Given the description of an element on the screen output the (x, y) to click on. 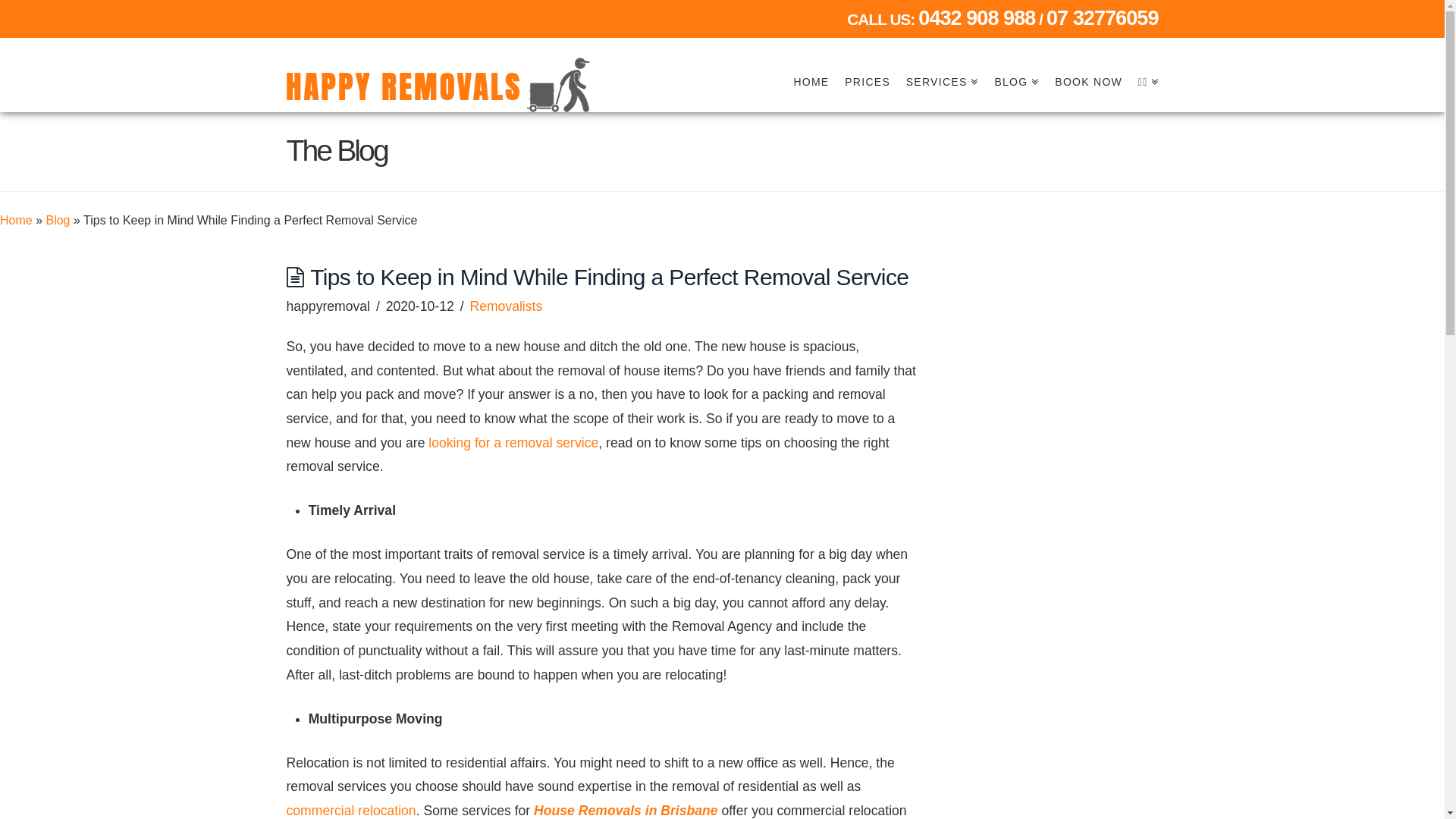
0432 908 988 Element type: text (976, 17)
Removalists Element type: text (505, 305)
Home Element type: text (16, 219)
BLOG Element type: text (1015, 64)
Brisbane | Removalists | Furniture removals | Mover Element type: hover (437, 81)
Blog Element type: text (57, 219)
SERVICES Element type: text (941, 64)
PRICES Element type: text (866, 64)
HOME Element type: text (810, 64)
07 32776059 Element type: text (1102, 17)
BOOK NOW Element type: text (1087, 64)
looking for a removal service Element type: text (513, 442)
commercial relocation Element type: text (351, 810)
House Removals in Brisbane Element type: text (625, 810)
